Given the description of an element on the screen output the (x, y) to click on. 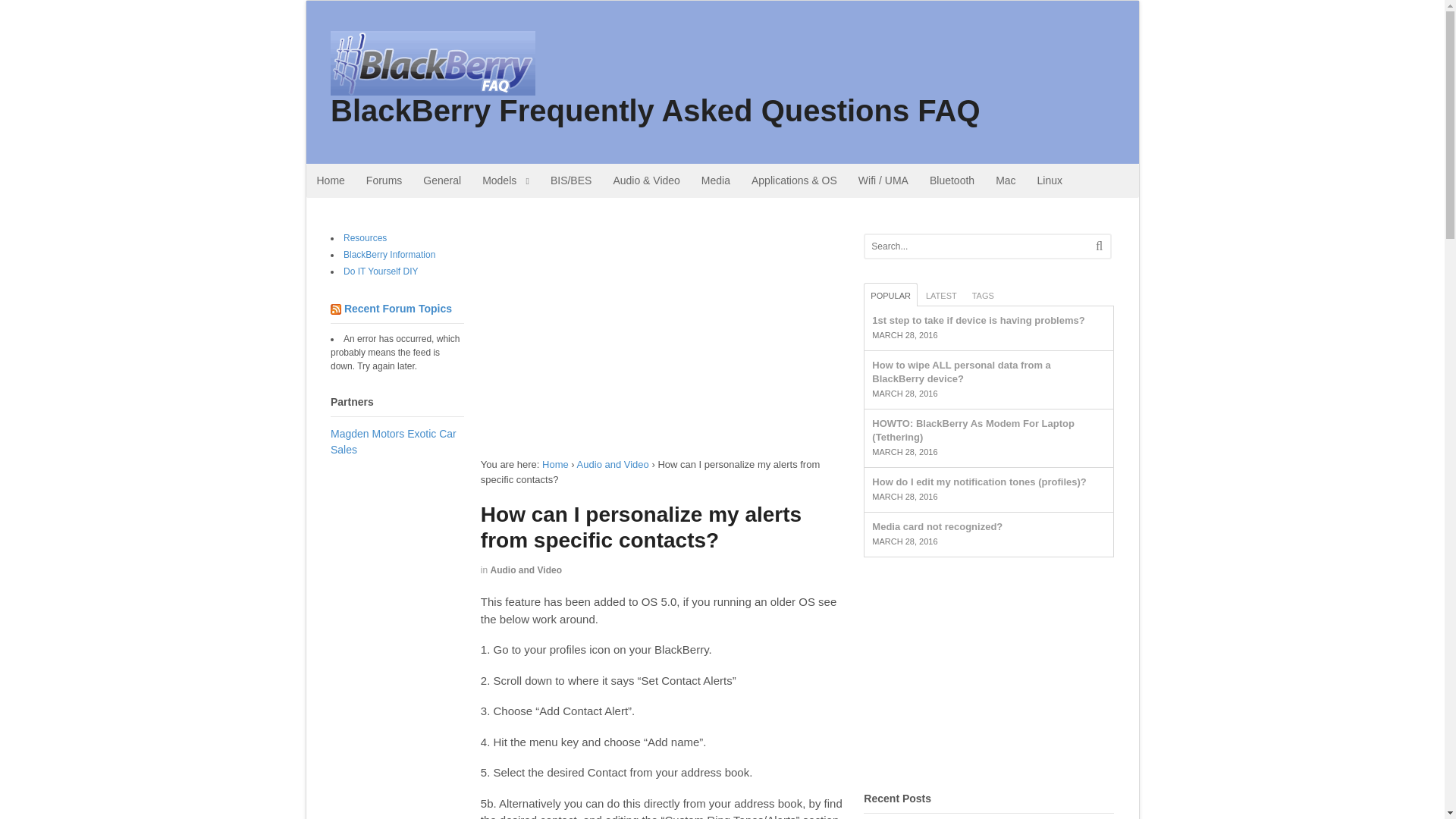
Forums (383, 180)
Mac (1005, 180)
Home (330, 180)
Audio and Video (612, 464)
Linux (1049, 180)
Home (555, 464)
View all items in Audio and Video (526, 570)
BlackBerry Frequently Asked Questions FAQ (654, 110)
Bluetooth (951, 180)
Audio and Video (526, 570)
BlackBerry Frequently Asked Questions FAQ (555, 464)
Search... (975, 246)
Media (715, 180)
Models (505, 180)
General (441, 180)
